Given the description of an element on the screen output the (x, y) to click on. 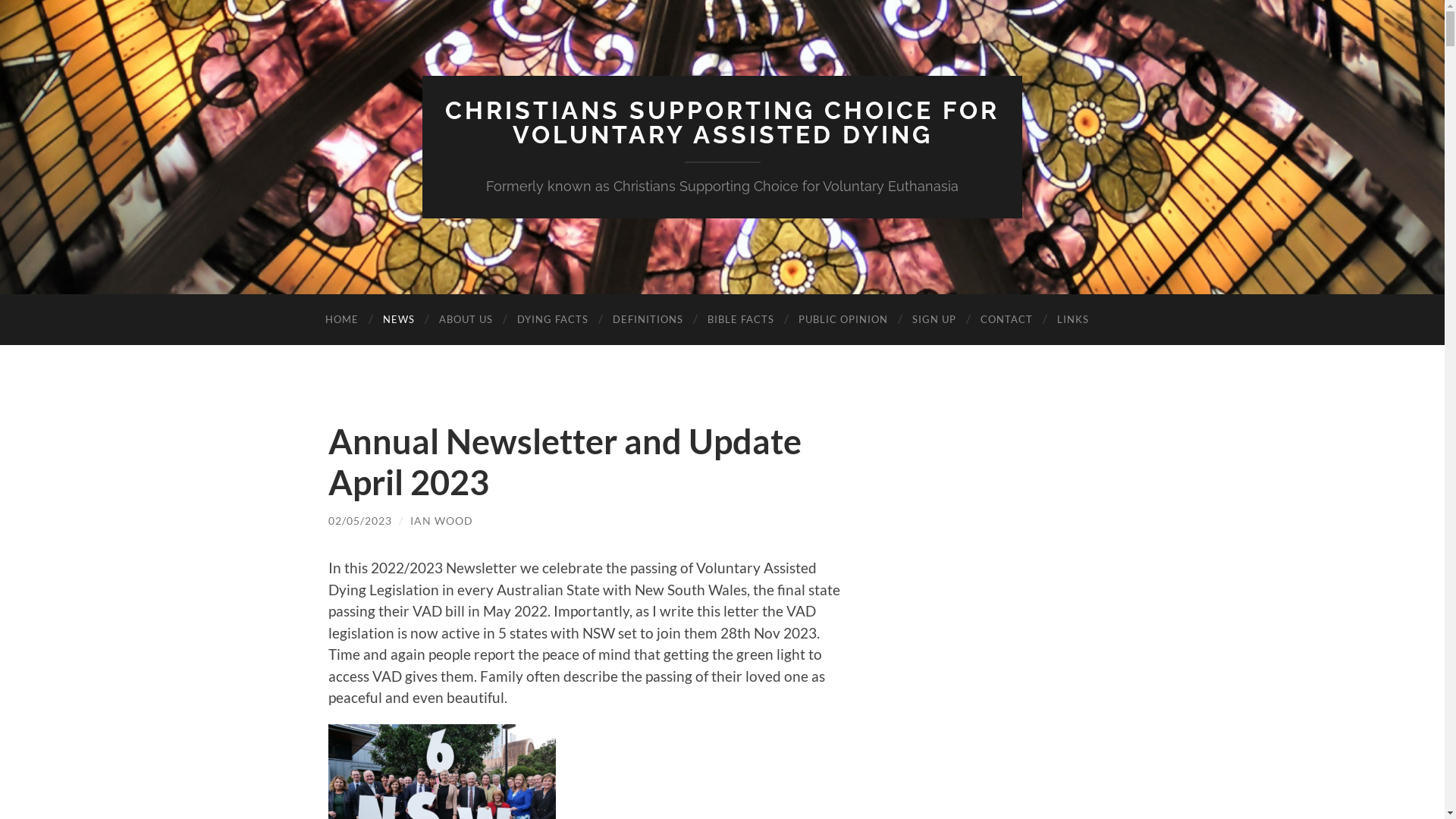
CONTACT Element type: text (1005, 319)
NEWS Element type: text (398, 319)
DEFINITIONS Element type: text (647, 319)
IAN WOOD Element type: text (440, 520)
PUBLIC OPINION Element type: text (842, 319)
Annual Newsletter and Update April 2023 Element type: text (563, 461)
BIBLE FACTS Element type: text (739, 319)
LINKS Element type: text (1072, 319)
SIGN UP Element type: text (933, 319)
HOME Element type: text (341, 319)
02/05/2023 Element type: text (359, 520)
ABOUT US Element type: text (465, 319)
CHRISTIANS SUPPORTING CHOICE FOR
VOLUNTARY ASSISTED DYING Element type: text (722, 122)
DYING FACTS Element type: text (552, 319)
